Given the description of an element on the screen output the (x, y) to click on. 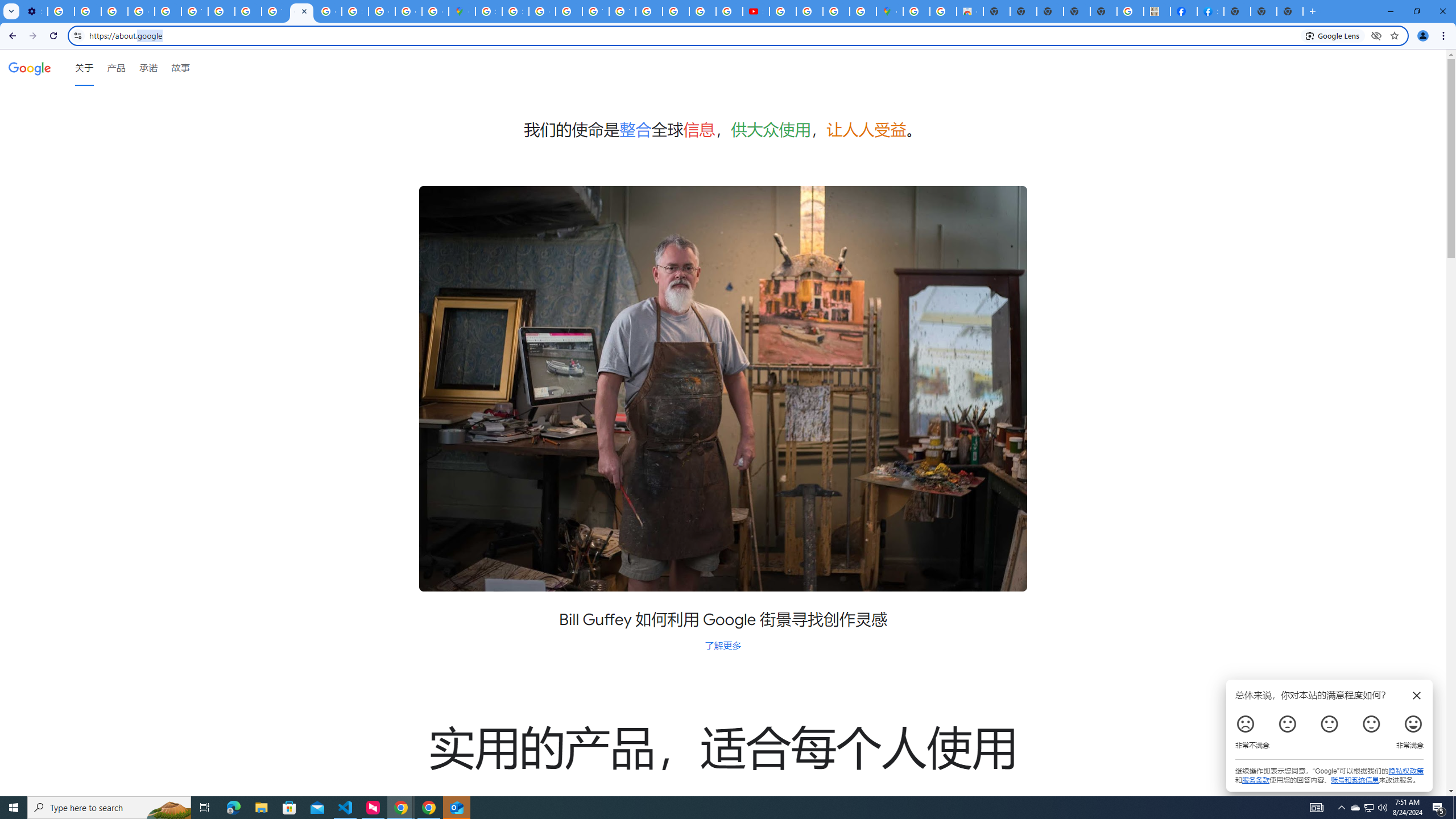
Chrome Web Store - Shopping (970, 11)
Privacy Help Center - Policies Help (167, 11)
Sign in - Google Accounts (488, 11)
Google Maps (889, 11)
